Given the description of an element on the screen output the (x, y) to click on. 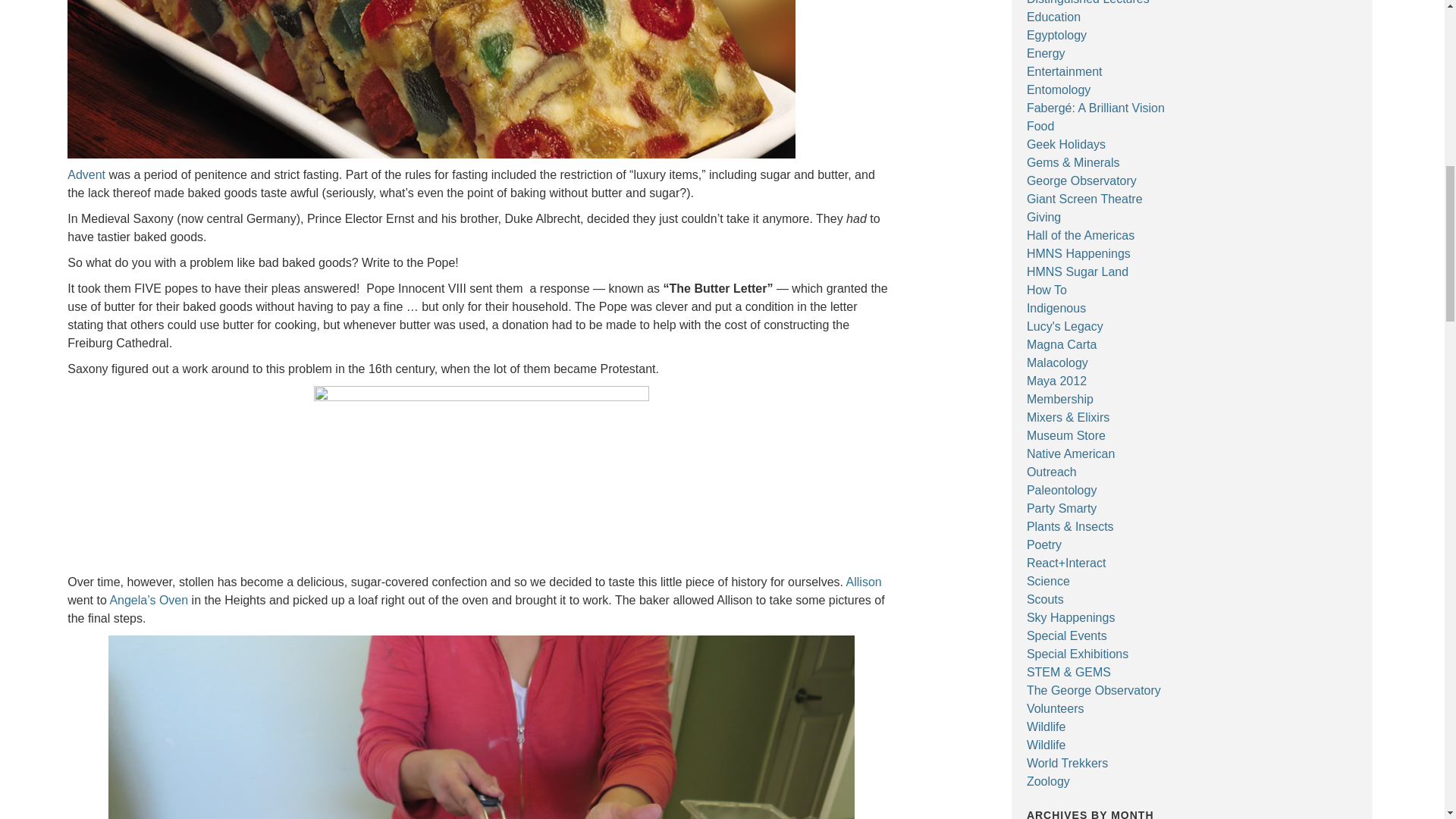
Allison (863, 581)
Advent (85, 174)
